Given the description of an element on the screen output the (x, y) to click on. 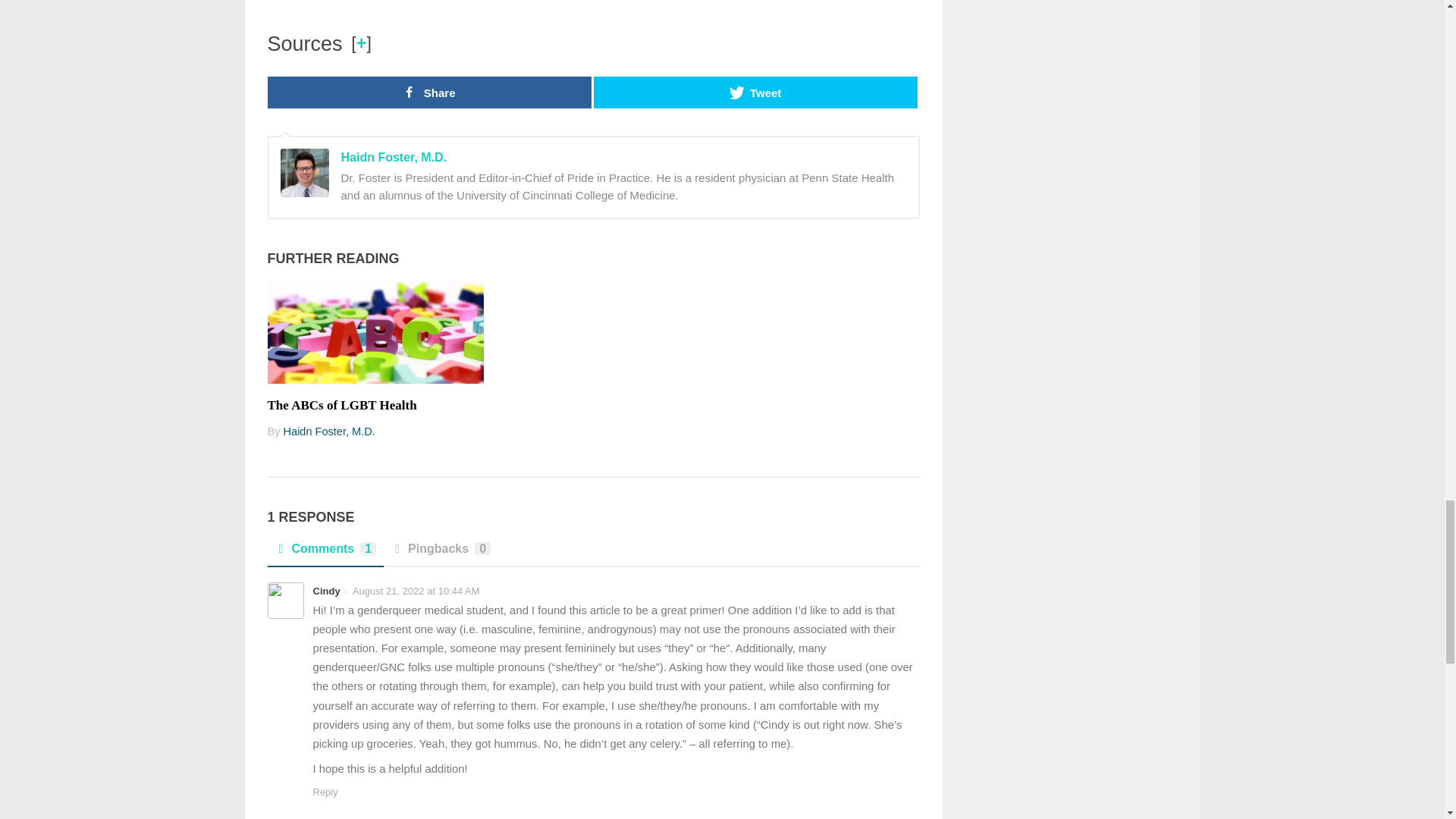
Permalink to The ABCs of LGBT Health (374, 332)
Posts by Haidn Foster, M.D. (329, 431)
Permalink to The ABCs of LGBT Health (341, 405)
